Given the description of an element on the screen output the (x, y) to click on. 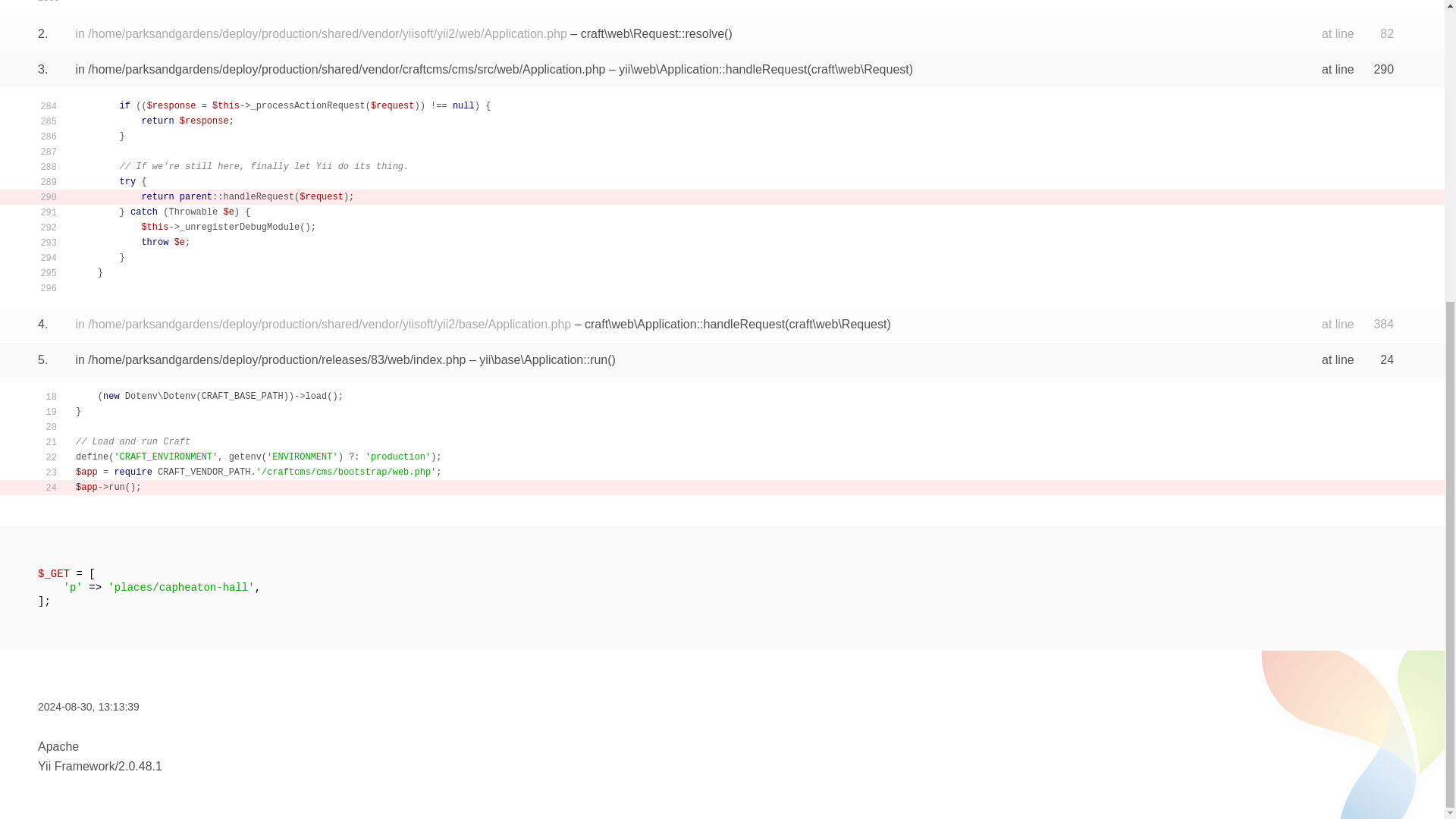
2.0.48.1 (139, 766)
Yii Framework (76, 766)
Apache (57, 746)
